Given the description of an element on the screen output the (x, y) to click on. 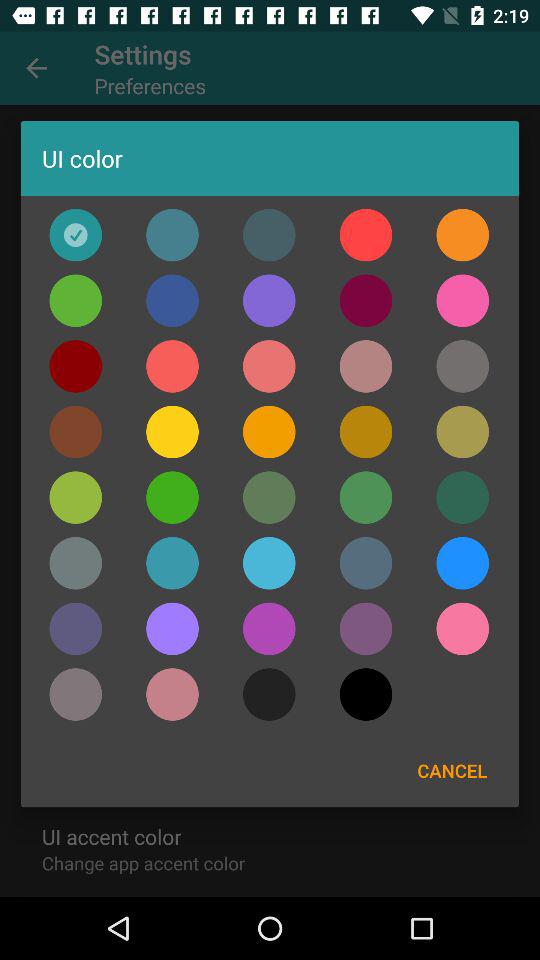
select the color bar (365, 694)
